Given the description of an element on the screen output the (x, y) to click on. 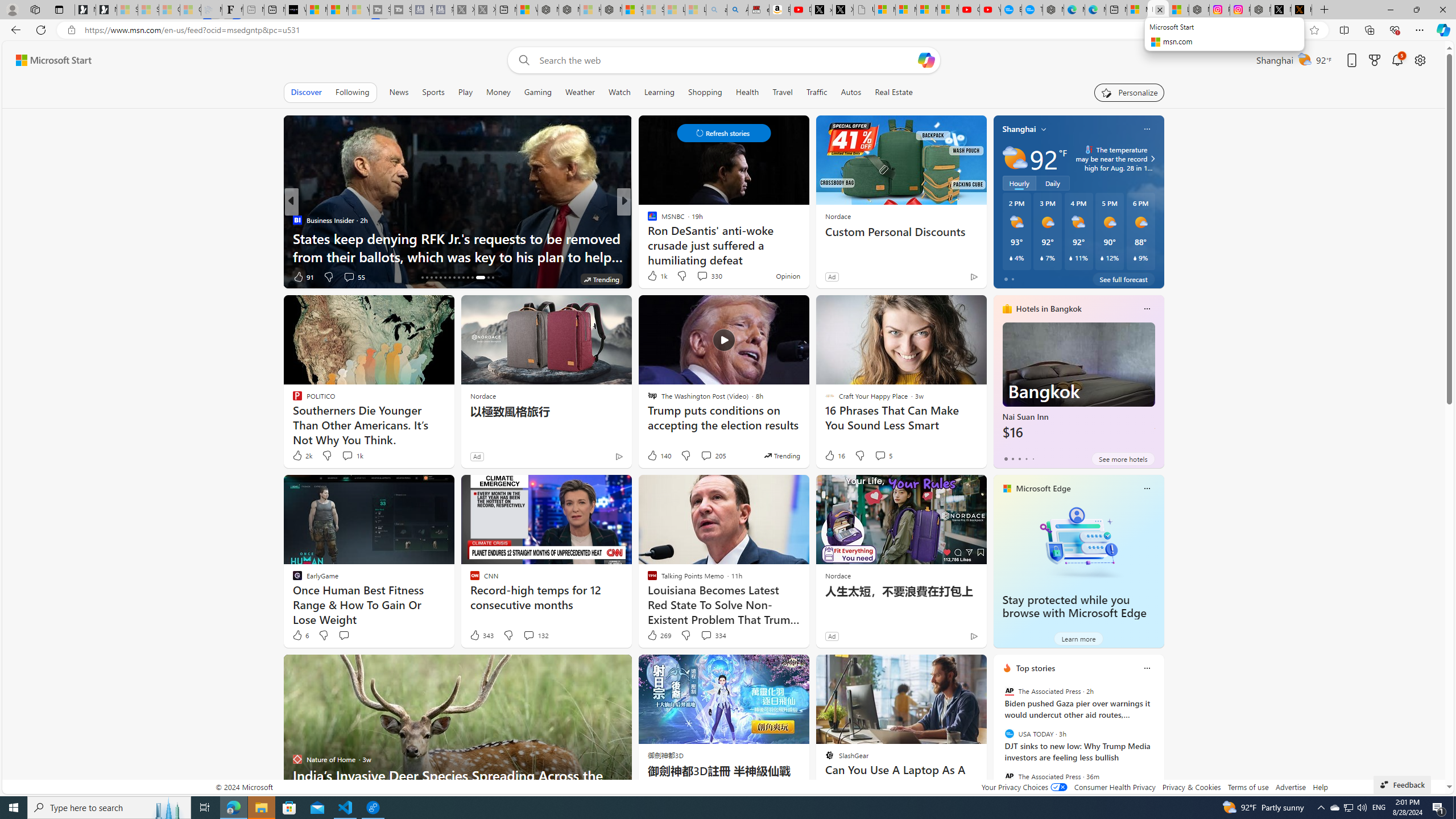
Nordace - Nordace Siena Is Not An Ordinary Backpack (610, 9)
Hourly (1018, 183)
AutomationID: tab-21 (444, 277)
Gaming (537, 92)
Health (746, 92)
AutomationID: tab-29 (488, 277)
Partly sunny (1014, 158)
Sports (432, 92)
6 Like (299, 634)
View comments 55 Comment (353, 276)
Shopping (705, 92)
